Given the description of an element on the screen output the (x, y) to click on. 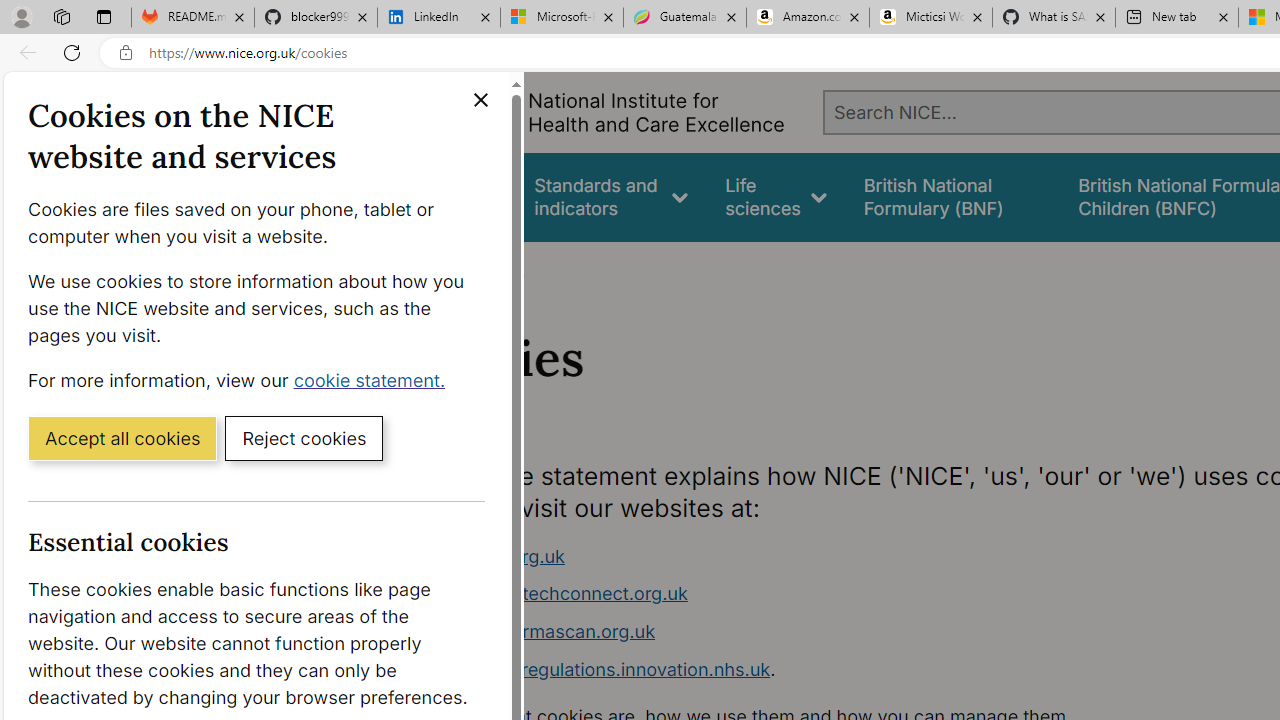
Home> (433, 268)
www.nice.org.uk (796, 556)
Accept all cookies (122, 437)
false (952, 196)
www.healthtechconnect.org.uk (796, 594)
Close cookie banner (480, 99)
www.digitalregulations.innovation.nhs.uk (595, 668)
www.digitalregulations.innovation.nhs.uk. (796, 669)
www.ukpharmascan.org.uk (538, 631)
Guidance (458, 196)
www.ukpharmascan.org.uk (796, 632)
